Given the description of an element on the screen output the (x, y) to click on. 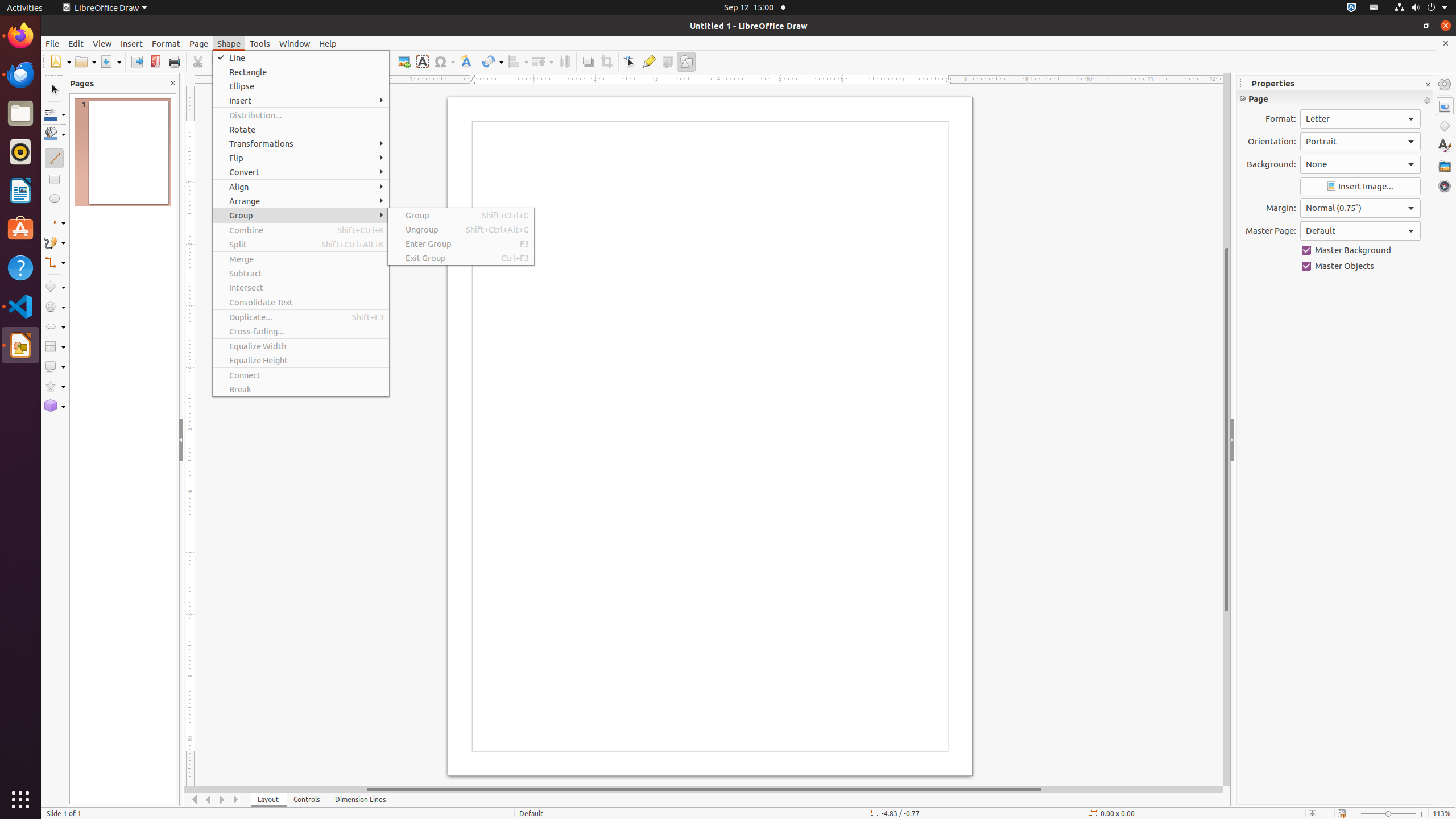
Enter Group Element type: menu-item (460, 243)
Split Element type: menu-item (300, 244)
System Element type: menu (1420, 7)
Horizontal scroll bar Element type: scroll-bar (703, 789)
